Given the description of an element on the screen output the (x, y) to click on. 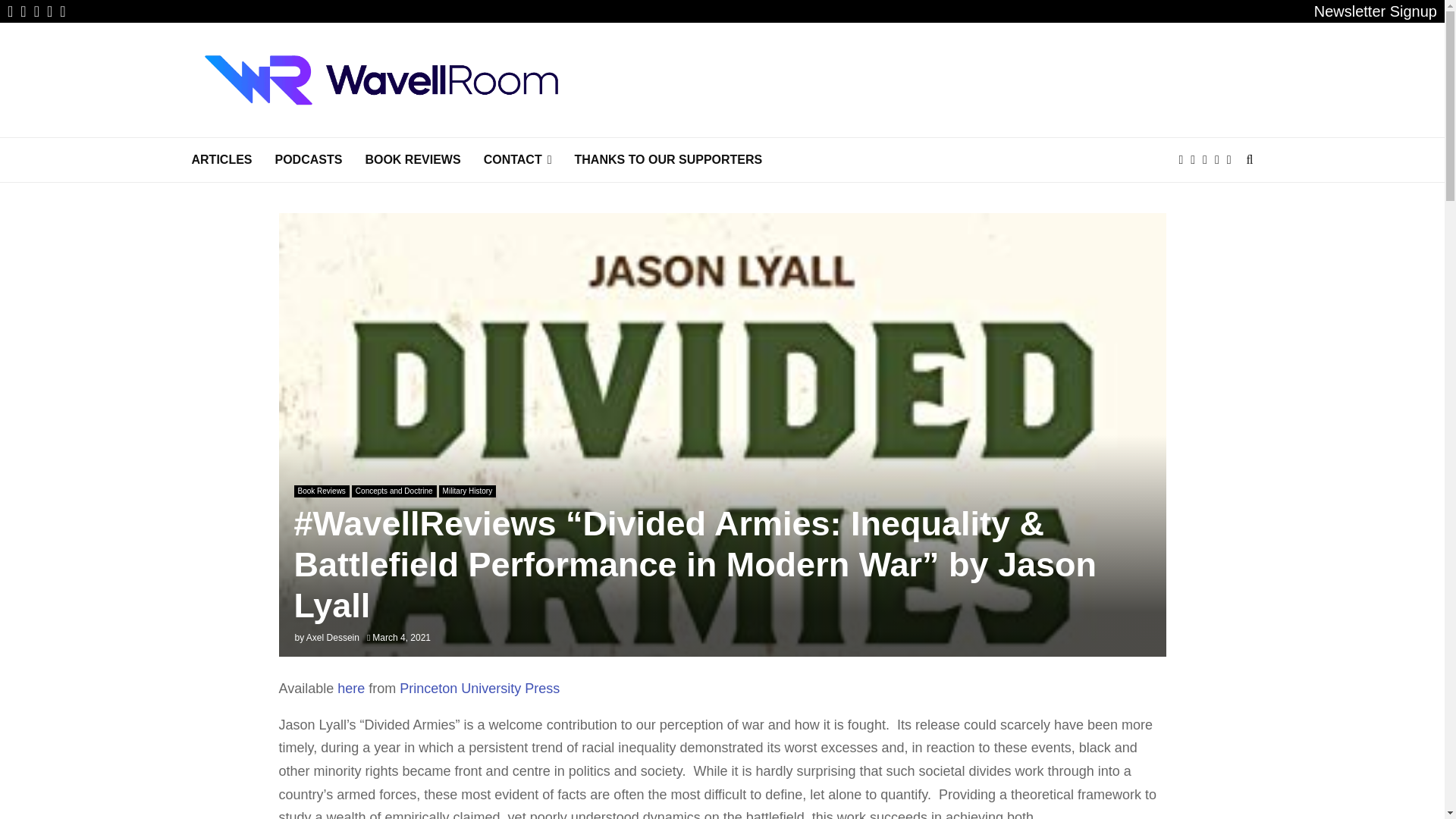
Axel Dessein (332, 637)
here (351, 688)
THANKS TO OUR SUPPORTERS (668, 159)
Military History (467, 491)
CONTACT (517, 159)
Newsletter Signup (1375, 11)
Book Reviews (321, 491)
Princeton University Press (478, 688)
ARTICLES (220, 159)
BOOK REVIEWS (412, 159)
Concepts and Doctrine (394, 491)
PODCASTS (308, 159)
